Given the description of an element on the screen output the (x, y) to click on. 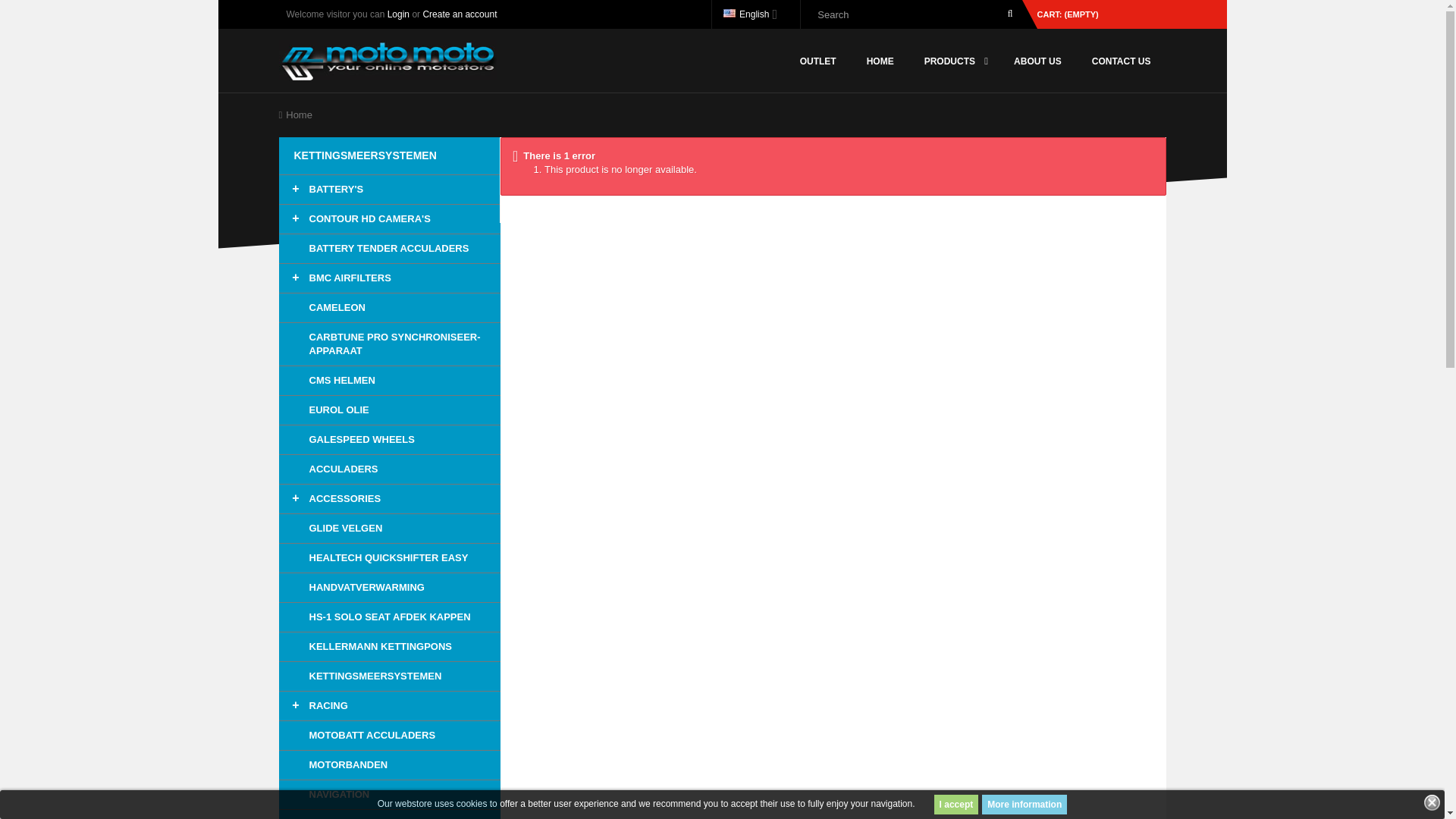
Create an account (459, 14)
View my shopping cart (1101, 14)
PRODUCTS (953, 61)
English (750, 14)
View my customer account (459, 14)
OUTLET (817, 61)
Login to your customer account (398, 14)
More information (1024, 804)
Login (398, 14)
MotoMoto (388, 60)
